Given the description of an element on the screen output the (x, y) to click on. 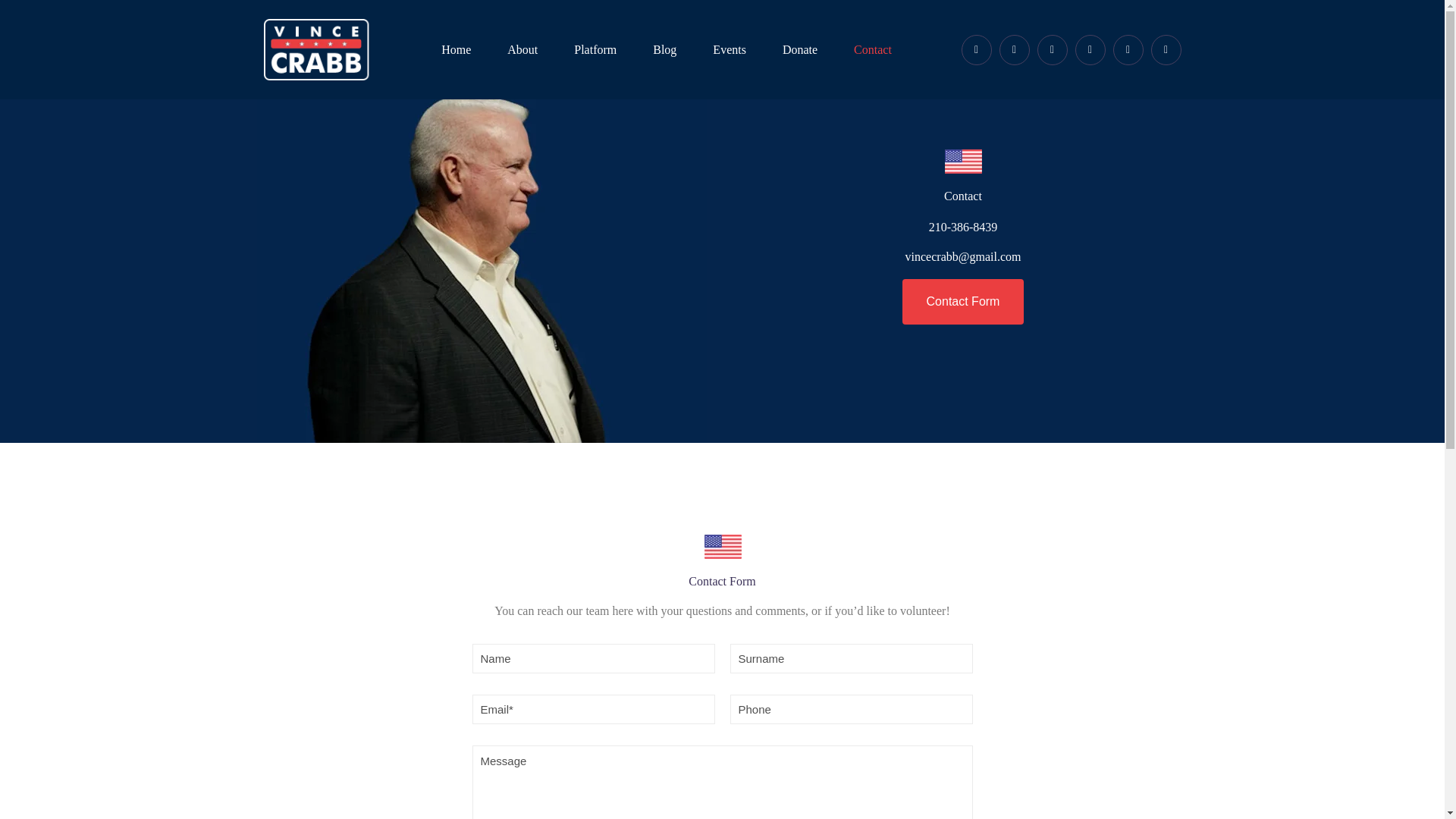
About (522, 50)
Events (729, 50)
Home (456, 50)
Contact (872, 50)
Blog (664, 50)
Donate (799, 50)
Platform (595, 50)
